Given the description of an element on the screen output the (x, y) to click on. 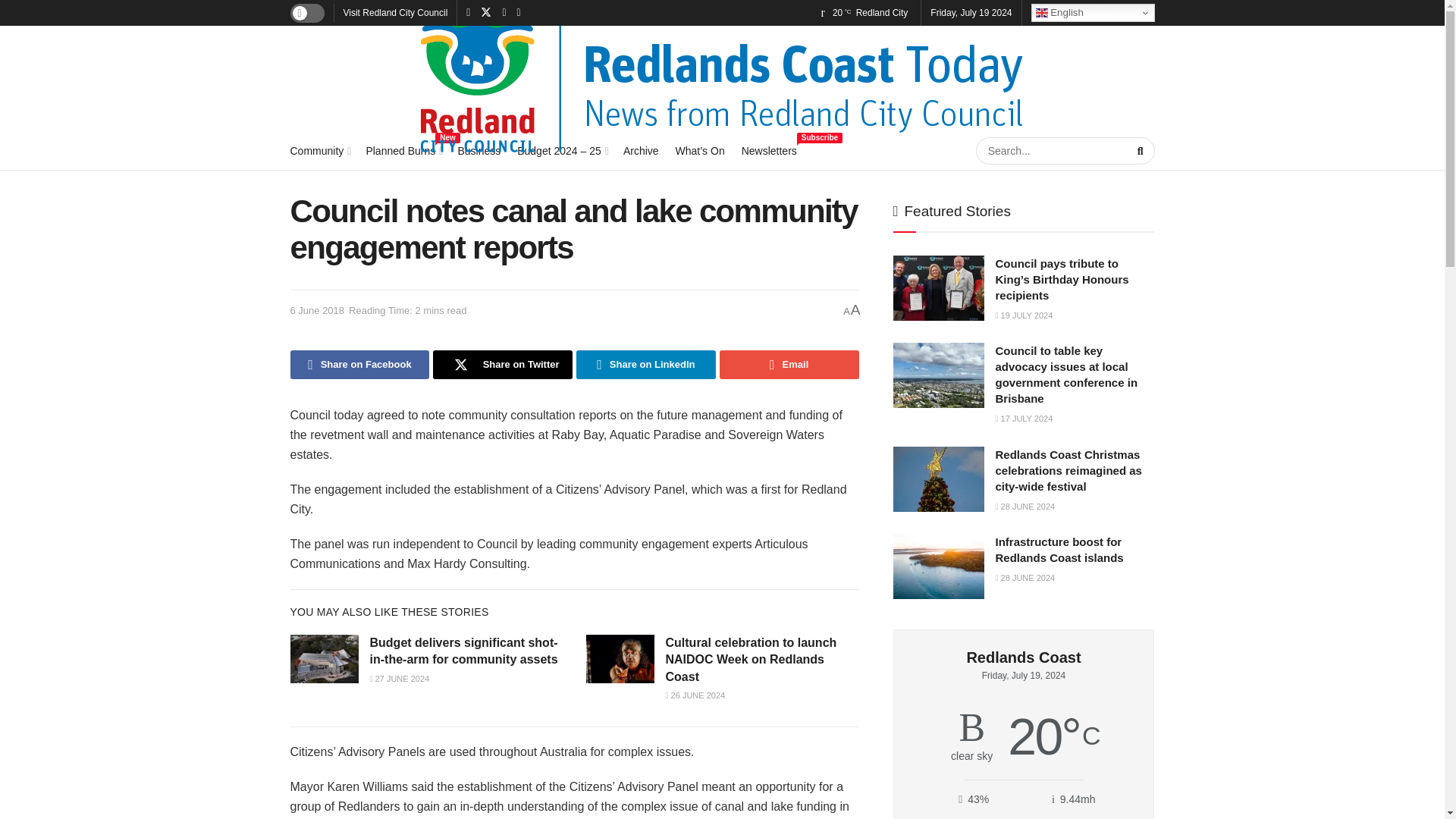
Visit Redland City Council (394, 12)
Business (478, 150)
English (1092, 13)
Community (768, 150)
Archive (403, 150)
